Given the description of an element on the screen output the (x, y) to click on. 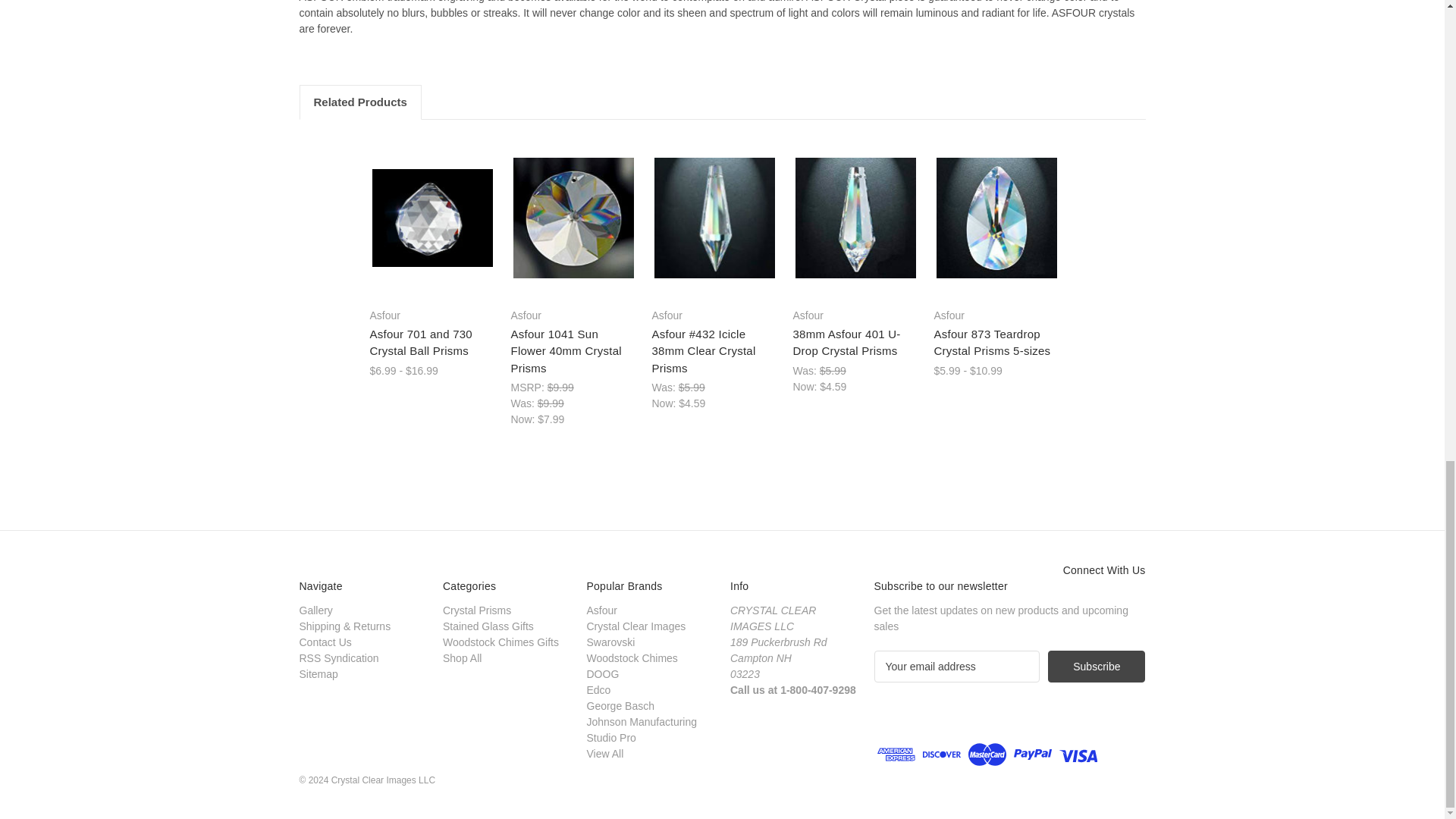
Discover (941, 754)
Mastercard (987, 754)
Asfour 1041 Sun Flower 40mm Crystal Prisms (572, 218)
Asfour 701 and 730 Crystal Ball Prisms (431, 217)
Asfour 873 Teardrop Crystal Prisms 5-sizes (996, 218)
Subscribe (1096, 666)
American Express (896, 754)
PayPal (1032, 754)
38mm Asfour 401 U-Drop Crystal Prisms (854, 218)
